Given the description of an element on the screen output the (x, y) to click on. 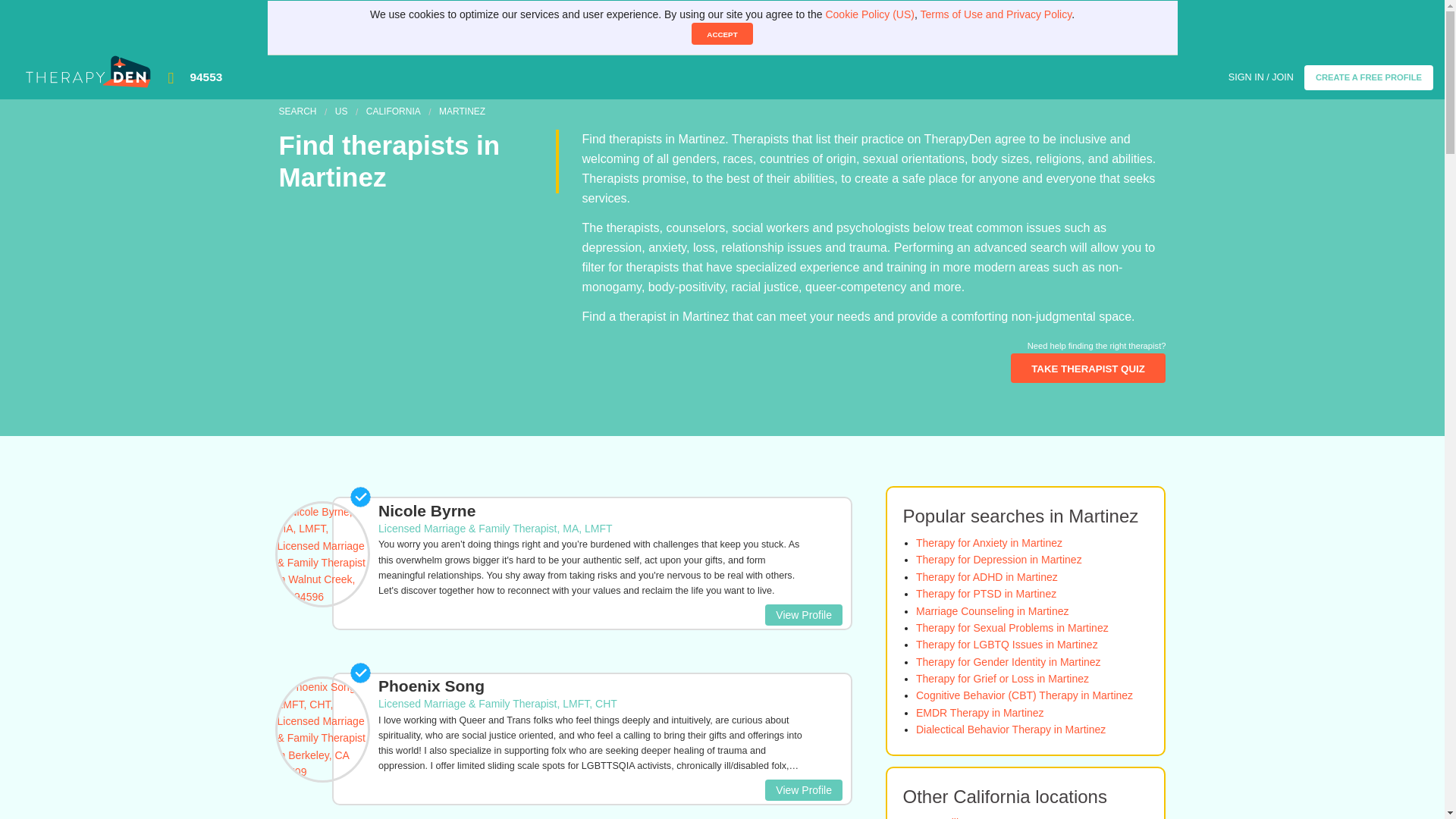
CALIFORNIA (393, 111)
Nicole Byrne in Walnut Creek, CA 94596 (591, 549)
CREATE A FREE PROFILE (1368, 77)
View Profile (804, 614)
TAKE THERAPIST QUIZ (1088, 367)
Search therapists in California (393, 111)
View Profile (804, 789)
US (340, 111)
Advanced Therapist Search (1088, 367)
Phoenix Song in Berkeley, CA 94709 (591, 724)
SEARCH (298, 111)
Search therapists (298, 111)
Terms of Use and Privacy Policy (995, 14)
94553 (700, 77)
ACCEPT (721, 33)
